Given the description of an element on the screen output the (x, y) to click on. 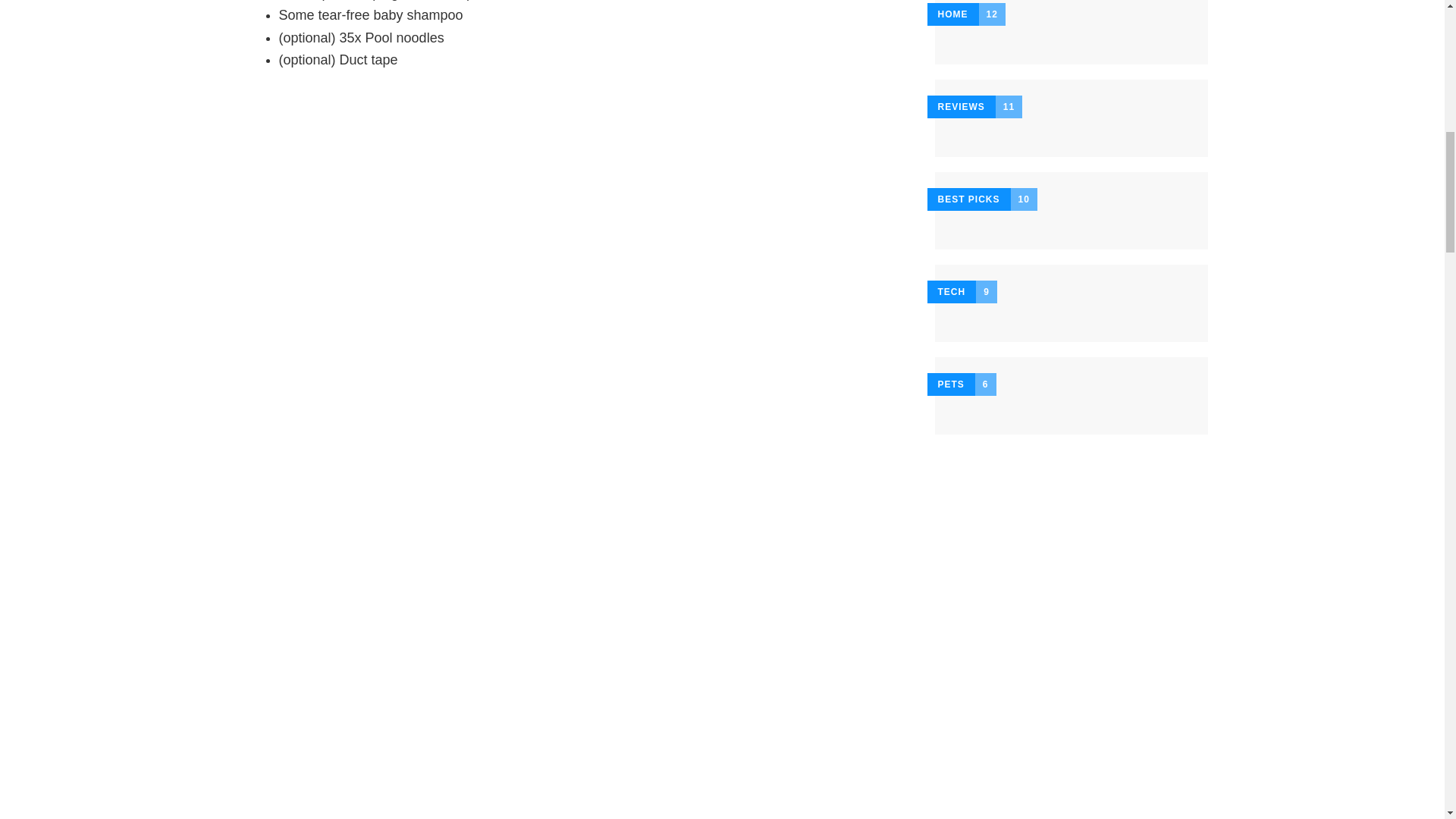
REVIEWS 11 (1070, 118)
TECH 9 (1070, 303)
BEST PICKS 10 (1070, 210)
HOME 12 (1070, 32)
PETS 6 (1070, 395)
